Given the description of an element on the screen output the (x, y) to click on. 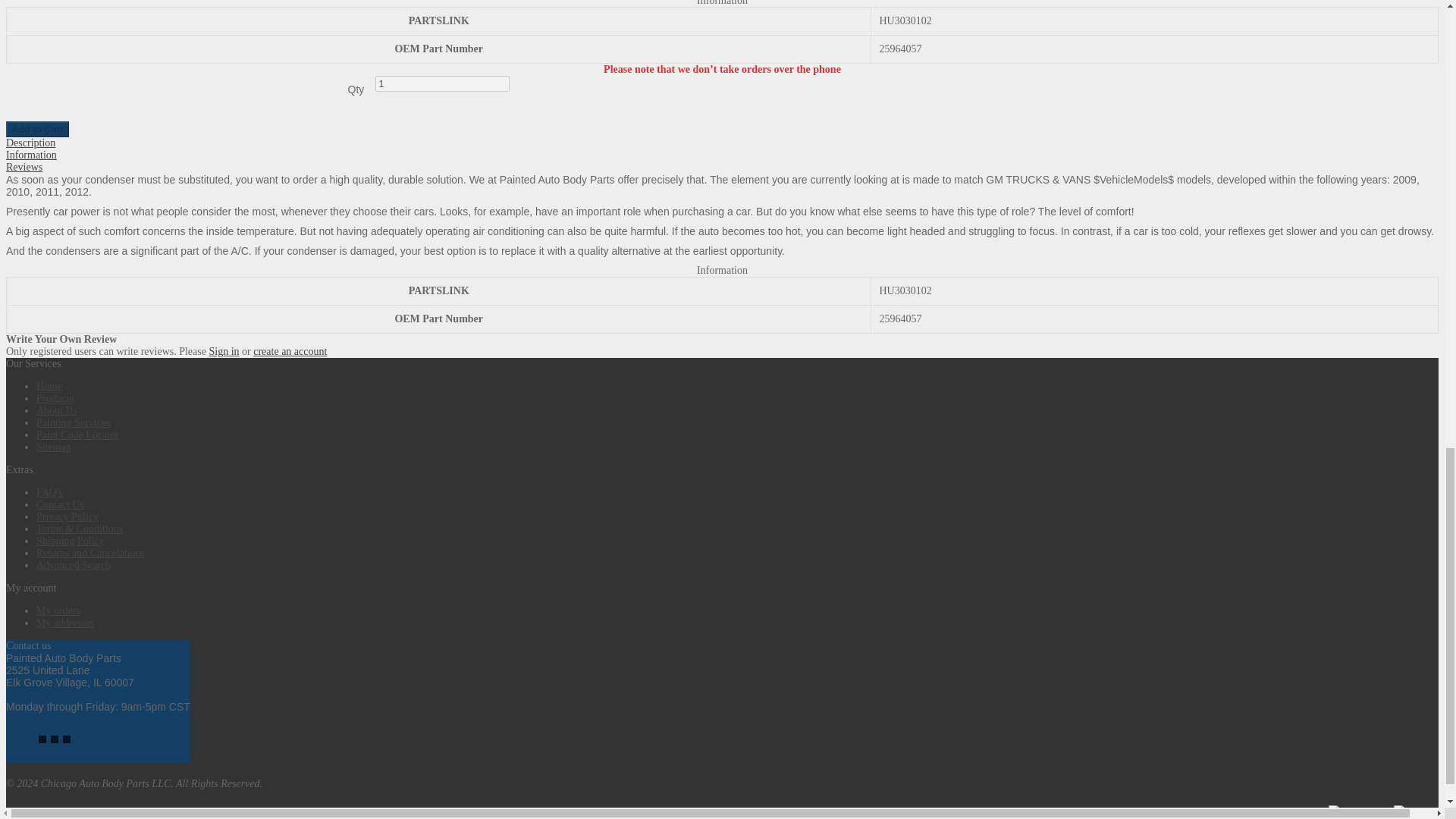
Reviews (23, 166)
1 (442, 83)
Add to Cart (36, 129)
Description (30, 142)
Add to Cart (36, 129)
Information (30, 154)
Linkedin (65, 738)
Twitter (54, 738)
Facebook (42, 738)
Qty (442, 83)
